Given the description of an element on the screen output the (x, y) to click on. 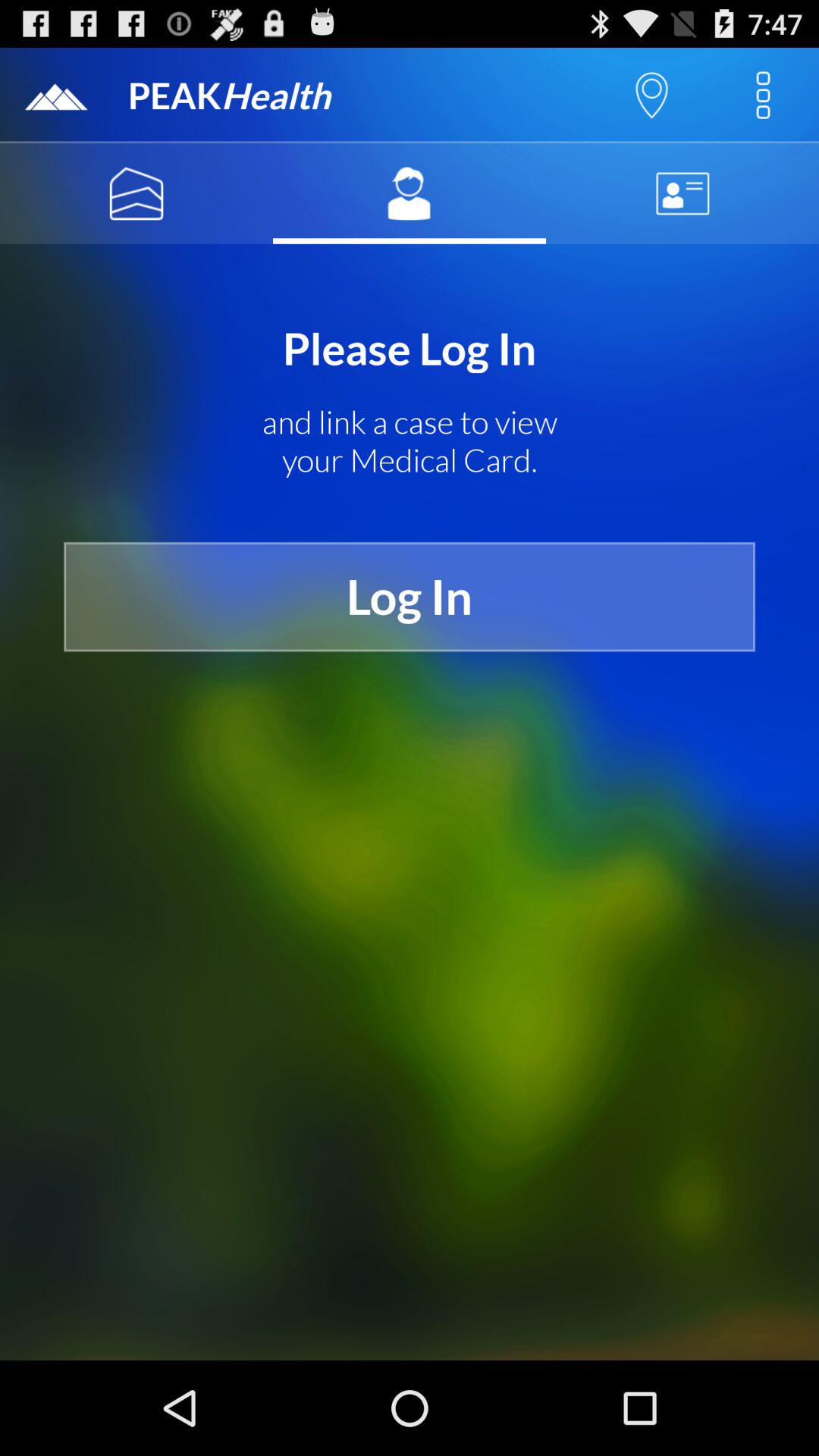
launch item above please log in icon (136, 193)
